Given the description of an element on the screen output the (x, y) to click on. 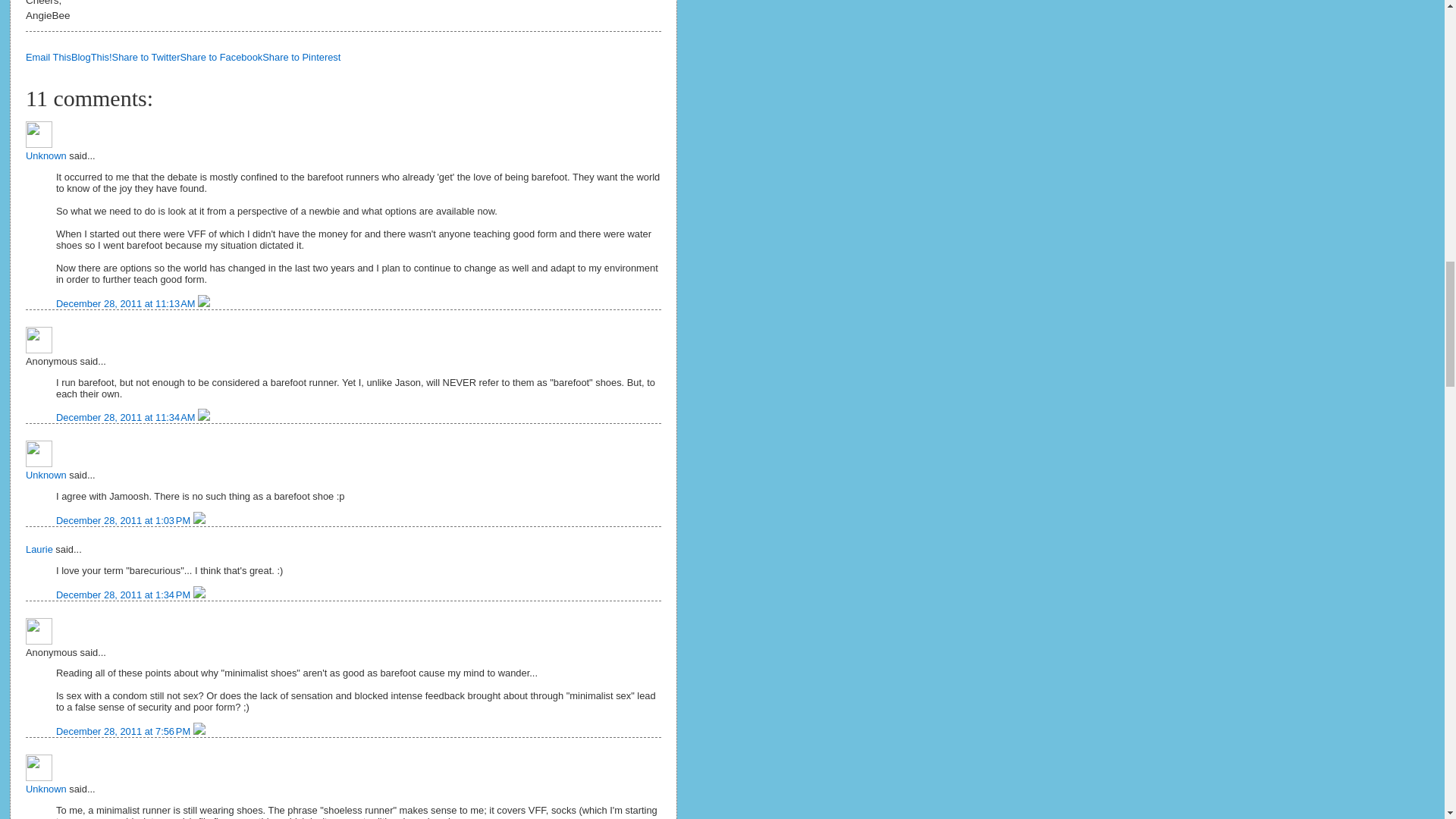
Share to Twitter (146, 57)
Share to Pinterest (301, 57)
comment permalink (127, 303)
Delete Comment (199, 520)
BlogThis! (91, 57)
Share to Pinterest (301, 57)
Email This (48, 57)
Share to Twitter (146, 57)
